Given the description of an element on the screen output the (x, y) to click on. 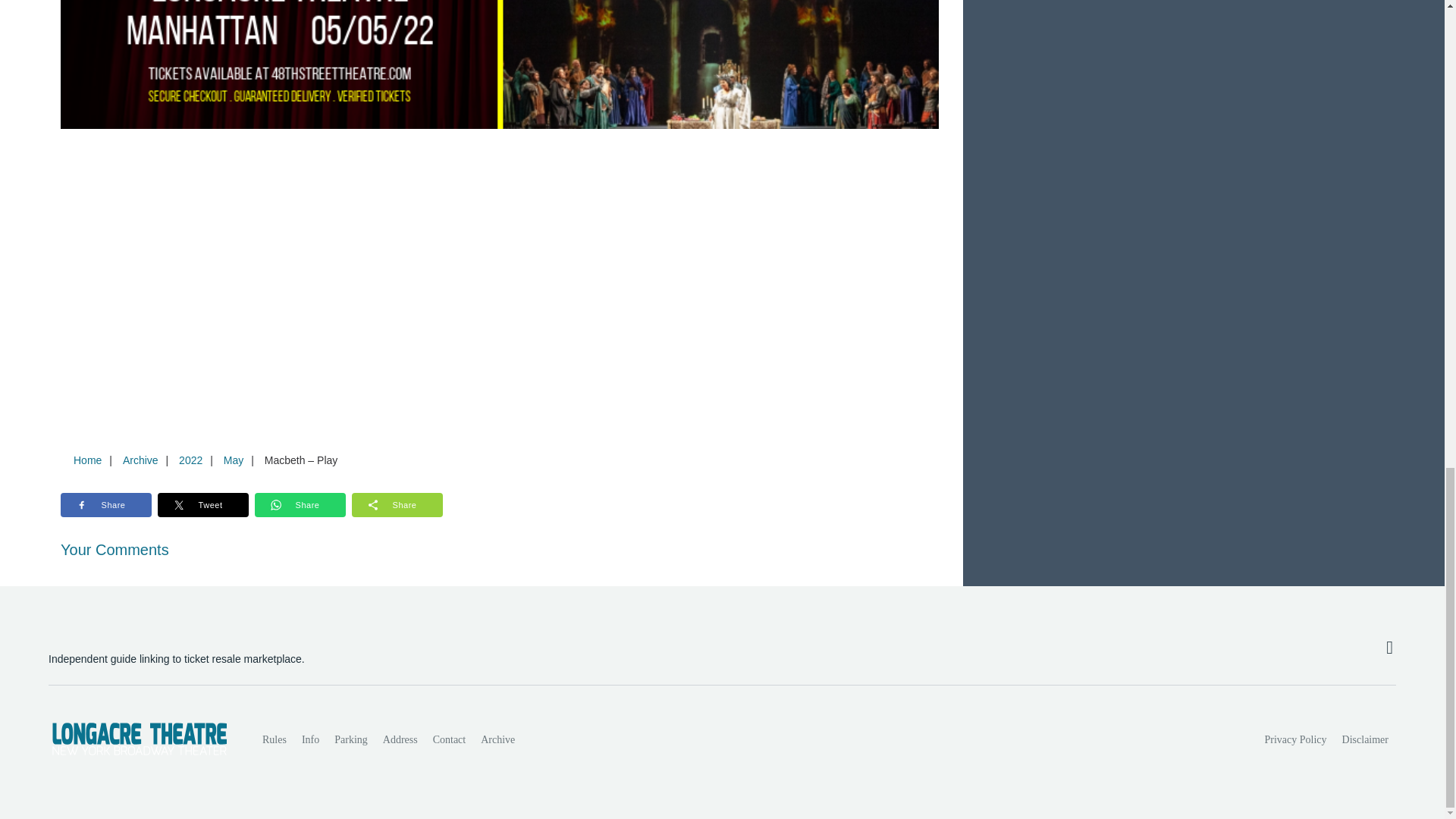
Address (400, 739)
2022 (190, 460)
Rules (274, 739)
Archive (140, 460)
Info (310, 739)
Archive (497, 739)
Disclaimer (1365, 739)
Privacy Policy (1296, 739)
Contact (449, 739)
Macbeth - Play at Longacre Theatre tickets (500, 63)
May (232, 460)
Parking (350, 739)
Home (87, 460)
